Given the description of an element on the screen output the (x, y) to click on. 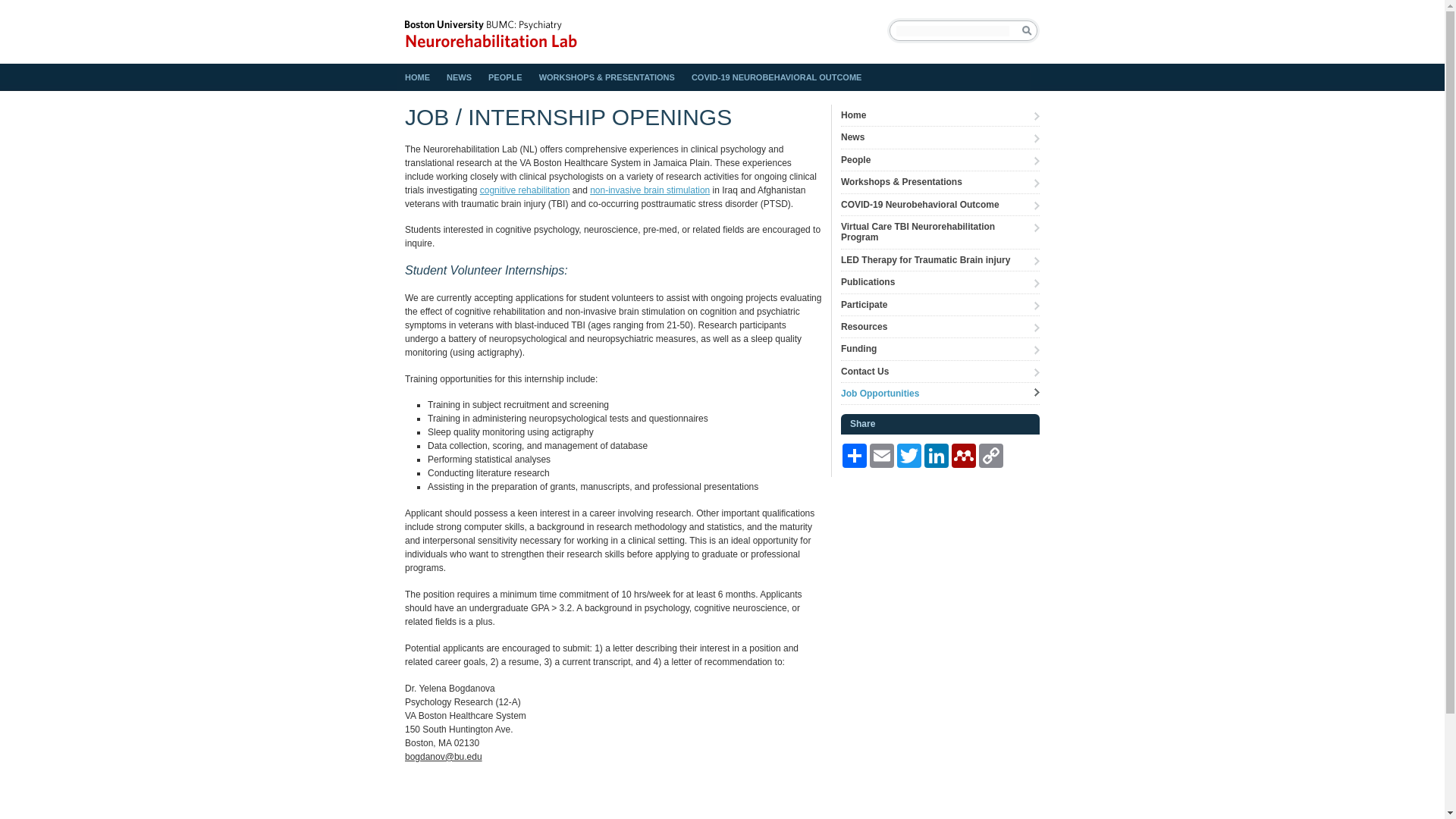
Twitter (909, 455)
cognitive rehabilitation (525, 190)
Contact Us (940, 372)
Email (881, 455)
Home (940, 115)
NEWS (459, 76)
non-invasive brain stimulation (649, 190)
COVID-19 NEUROBEHAVIORAL OUTCOME (776, 76)
Virtual Care TBI Neurorehabilitation Program (940, 232)
Search for: (952, 30)
LinkedIn (936, 455)
LED Therapy for Traumatic Brain injury (940, 260)
Resources (940, 327)
Copy Link (990, 455)
Publications (940, 282)
